Given the description of an element on the screen output the (x, y) to click on. 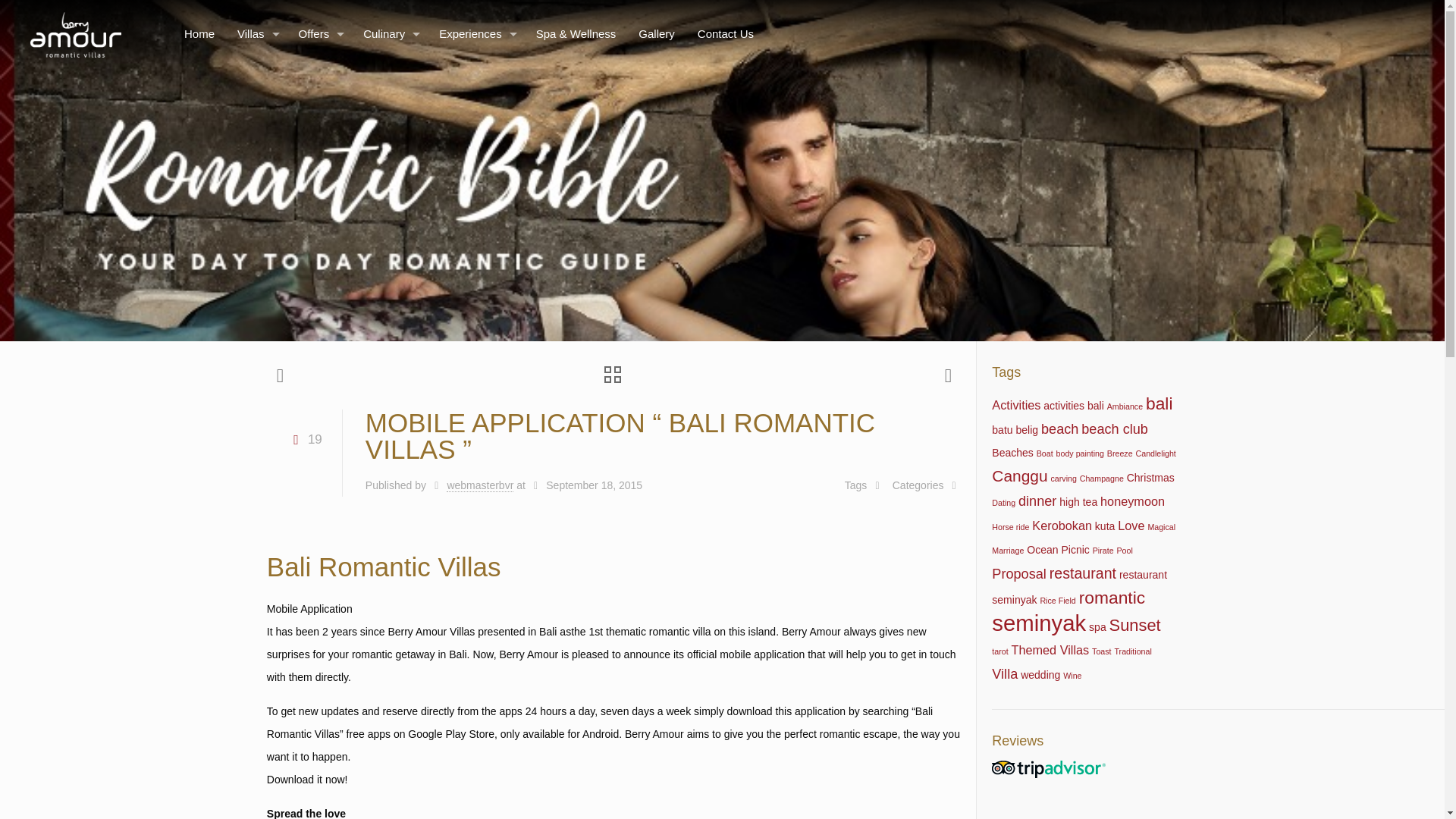
Berry Amour Villas (74, 33)
Culinary (390, 33)
Villas (255, 33)
Experiences (476, 33)
Offers (319, 33)
Contact Us (725, 33)
